Given the description of an element on the screen output the (x, y) to click on. 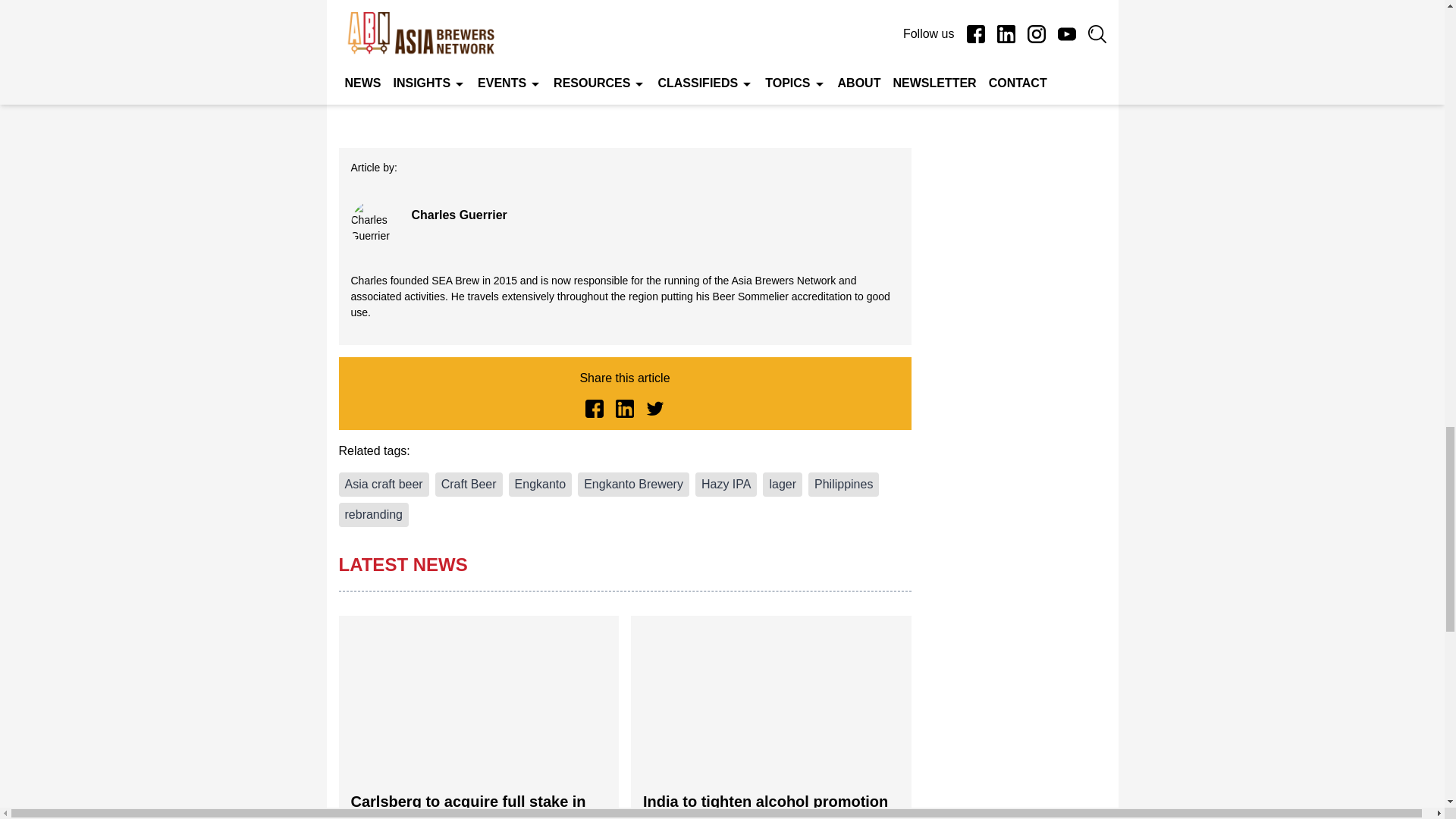
Craft Beer (468, 484)
Engkanto Brewery (633, 484)
Asia craft beer (382, 484)
rebranding (373, 514)
Hazy IPA (726, 484)
Engkanto (540, 484)
lager (782, 484)
Philippines (843, 484)
